Given the description of an element on the screen output the (x, y) to click on. 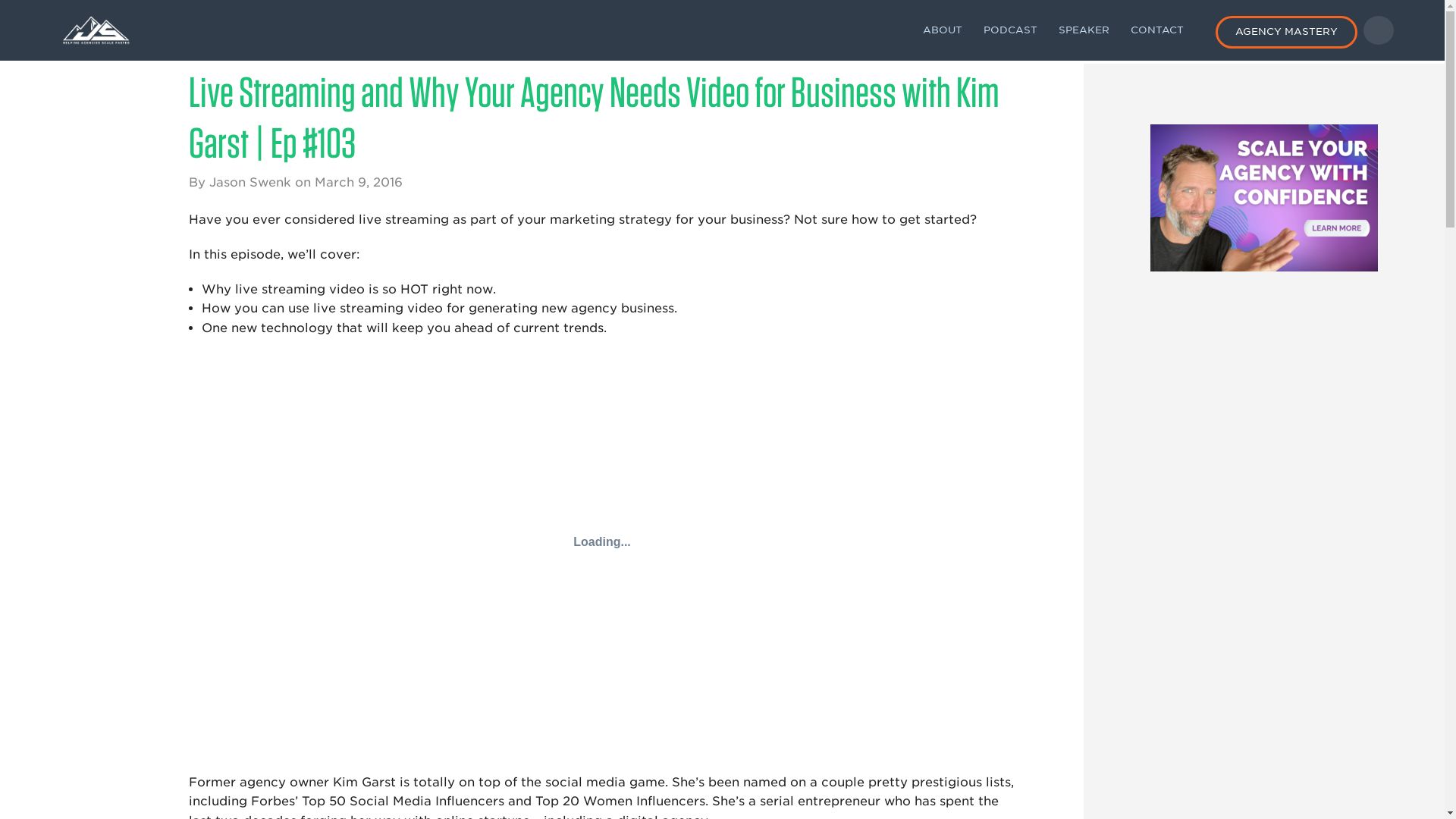
SPEAKER (1083, 29)
Search (814, 204)
Search (1377, 30)
AGENCY MASTERY (1285, 31)
ABOUT (941, 29)
PODCAST (1009, 29)
CONTACT (1156, 29)
Search (1153, 261)
AGENCY MASTERY (1285, 30)
